Given the description of an element on the screen output the (x, y) to click on. 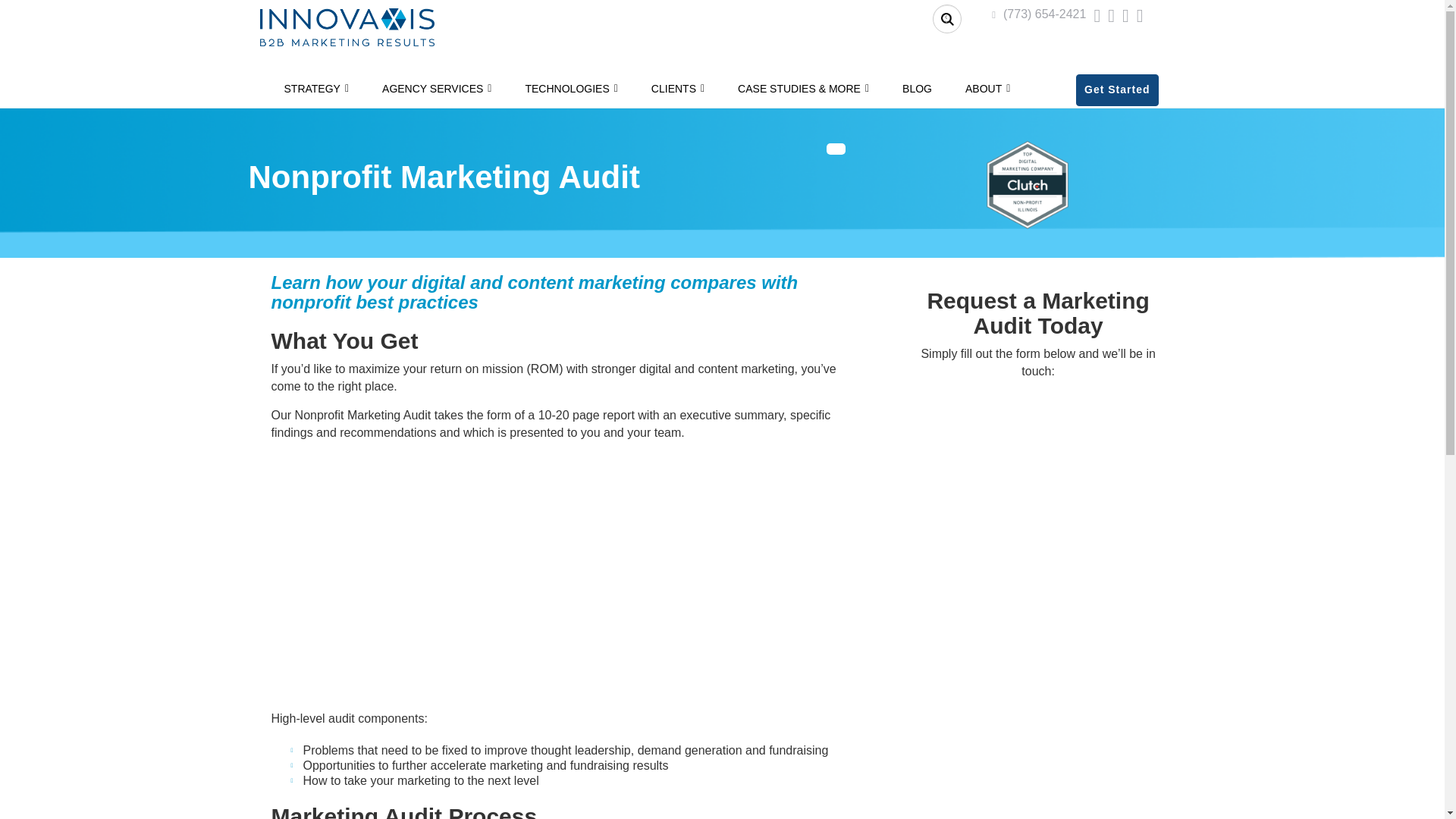
AGENCY SERVICES (436, 88)
STRATEGY (315, 88)
YouTube video player (564, 573)
